Given the description of an element on the screen output the (x, y) to click on. 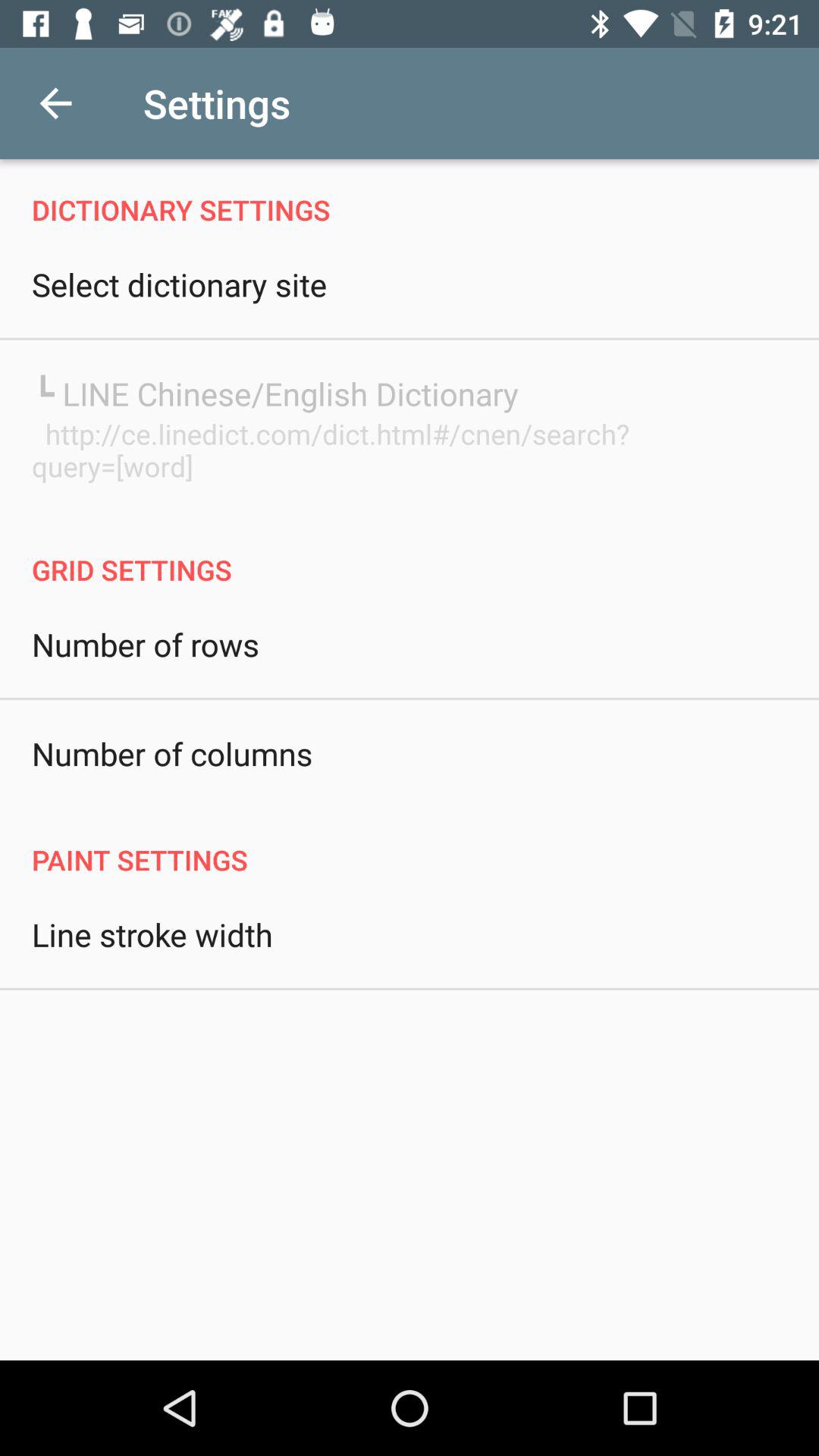
select the line stroke width icon (152, 934)
